Given the description of an element on the screen output the (x, y) to click on. 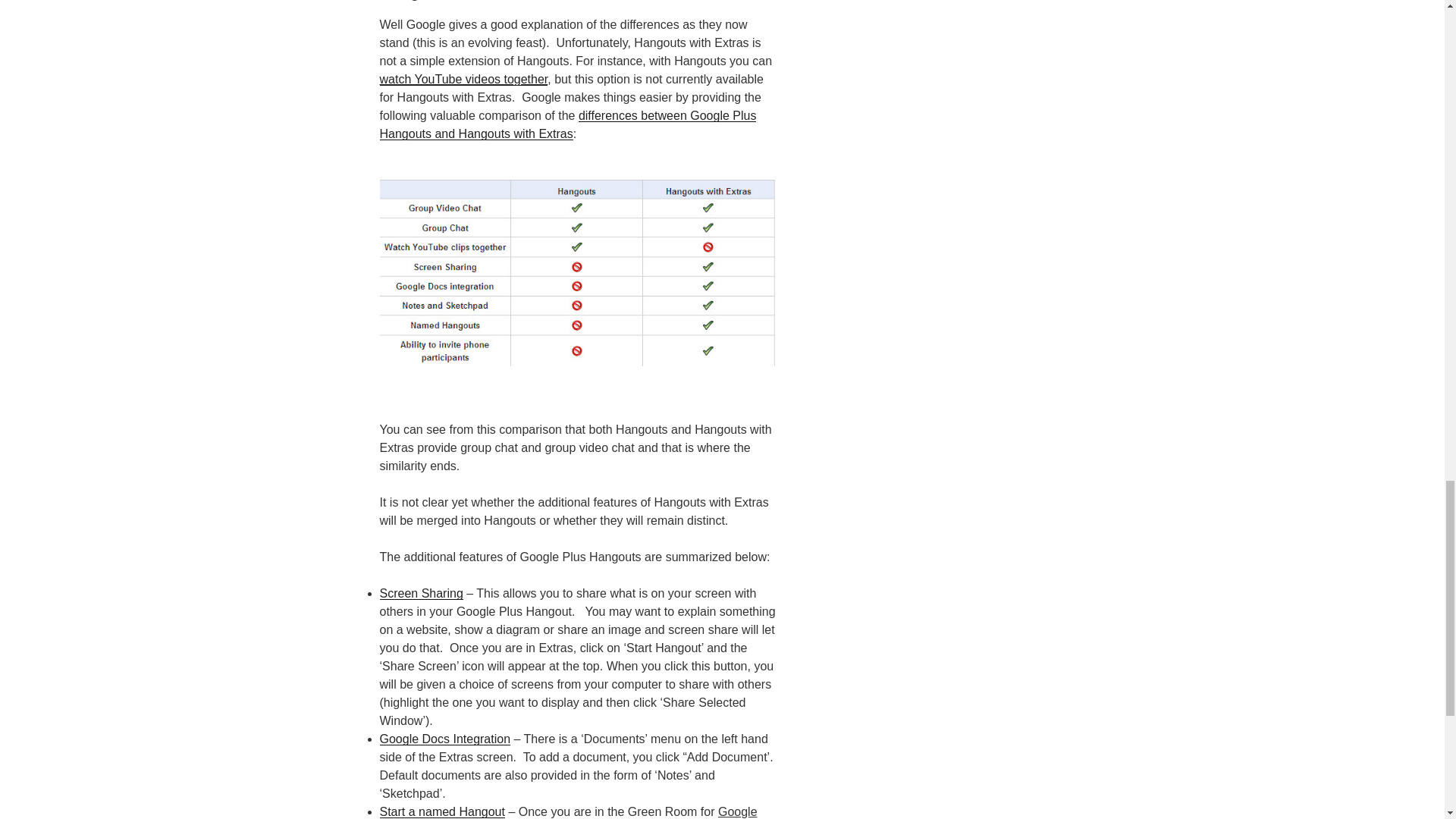
Screen Sharing (420, 593)
Start a named Hangout (440, 811)
watch YouTube videos together (462, 78)
Google Docs Integration (444, 738)
Google Plus Hangouts with Extras - comparison (577, 272)
